Given the description of an element on the screen output the (x, y) to click on. 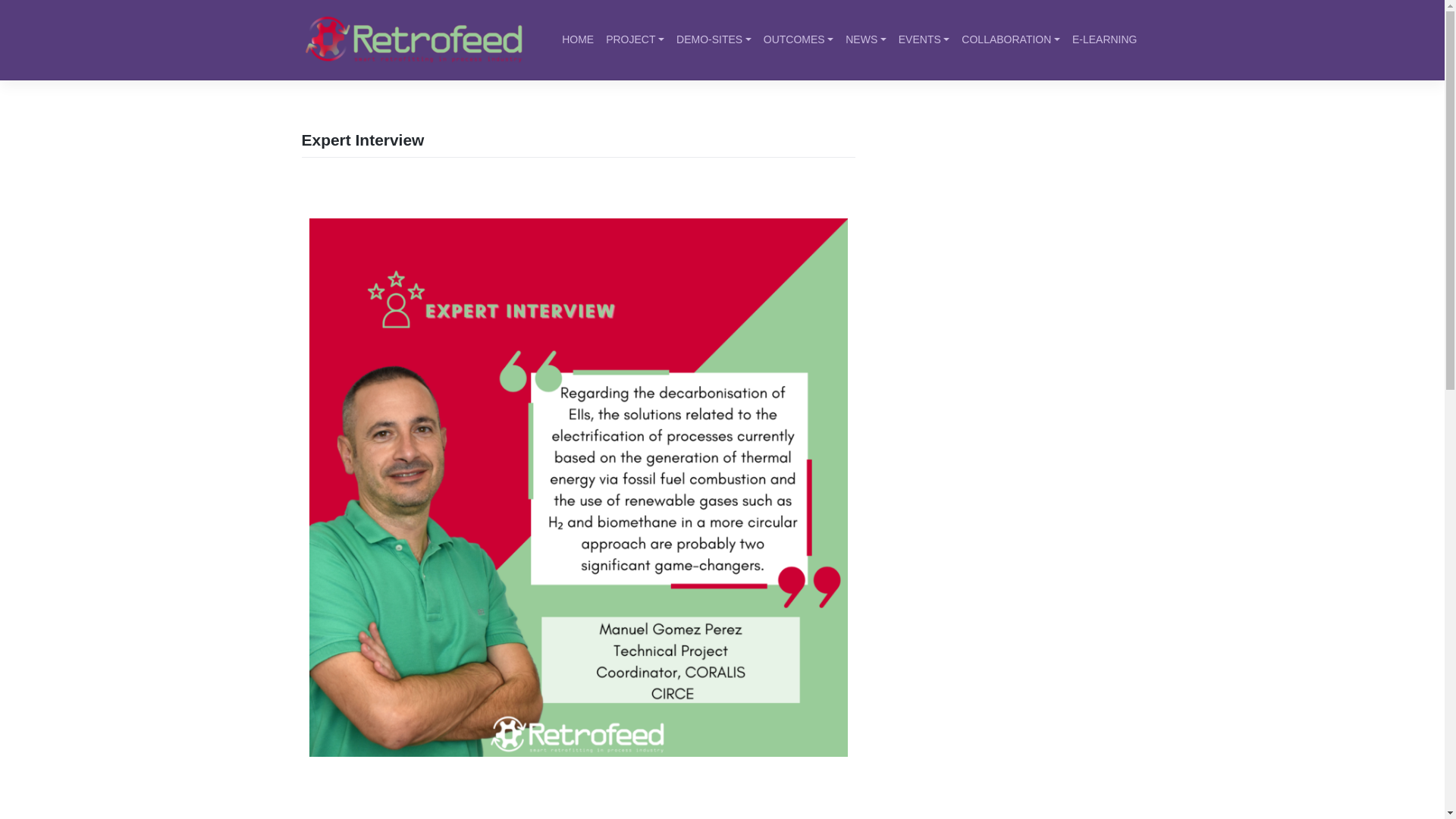
OUTCOMES (798, 39)
HOME (577, 39)
DEMO-SITES (713, 39)
Demo-sites (713, 39)
Outcomes (798, 39)
COLLABORATION (1010, 39)
Home (577, 39)
E-LEARNING (1103, 39)
PROJECT (634, 39)
EVENTS (924, 39)
NEWS (866, 39)
Project (634, 39)
